Given the description of an element on the screen output the (x, y) to click on. 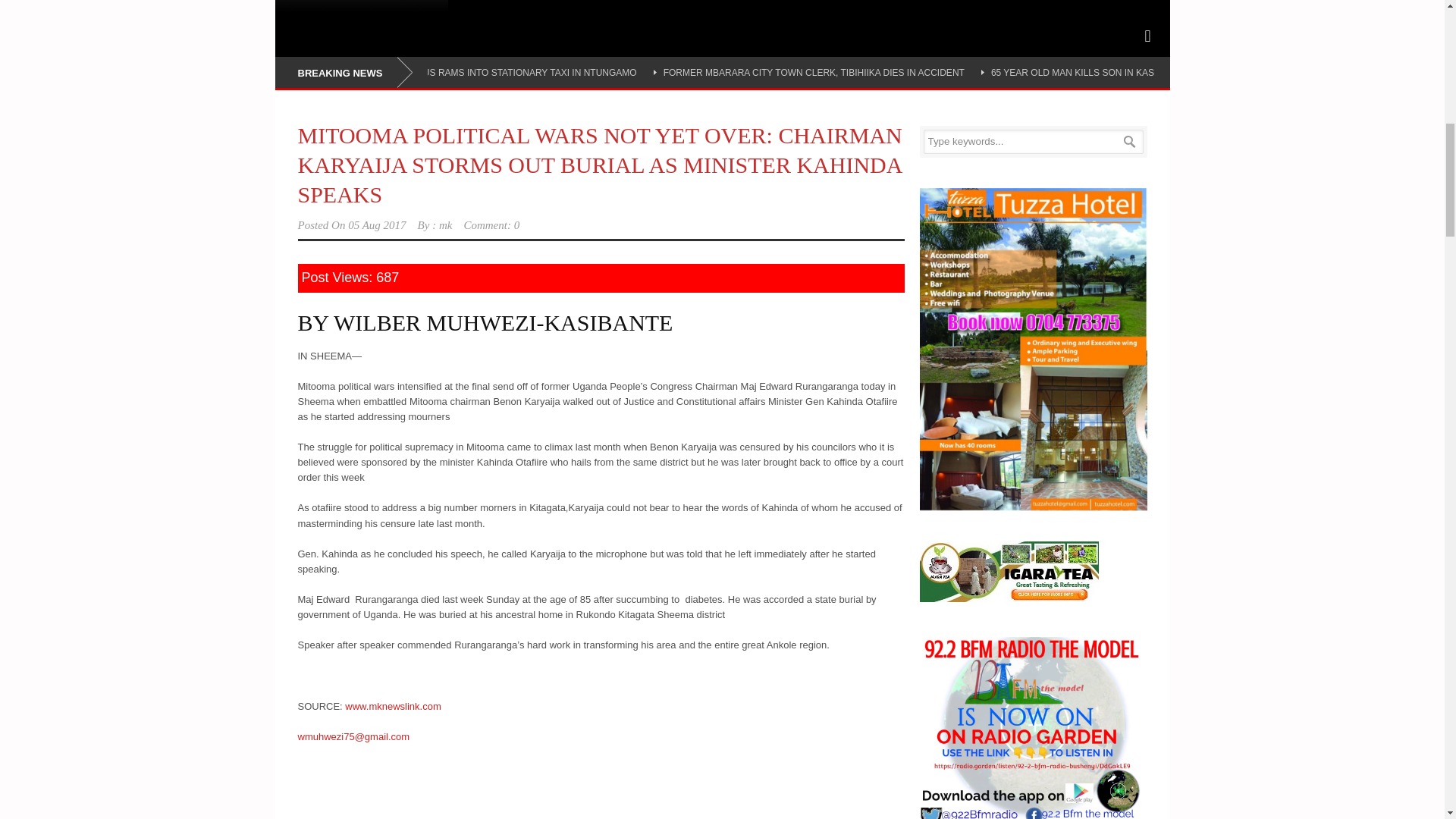
AGRICULTURE (395, 6)
Type keywords... (1032, 141)
mk (445, 224)
05 Aug 2017 (376, 224)
SEVERAL DEAD AS BUS RAMS INTO STATIONARY TAXI IN NTUNGAMO (483, 72)
FORMER MBARARA CITY TOWN CLERK, TIBIHIIKA DIES IN ACCIDENT (813, 72)
Posts by mk (445, 224)
SPORTS (309, 6)
Comment: 0 (491, 224)
65 YEAR OLD MAN KILLS SON IN KASHARI OVER 2 ACRE FAMILY LAND (1145, 72)
www.mknewslink.com (393, 706)
